Given the description of an element on the screen output the (x, y) to click on. 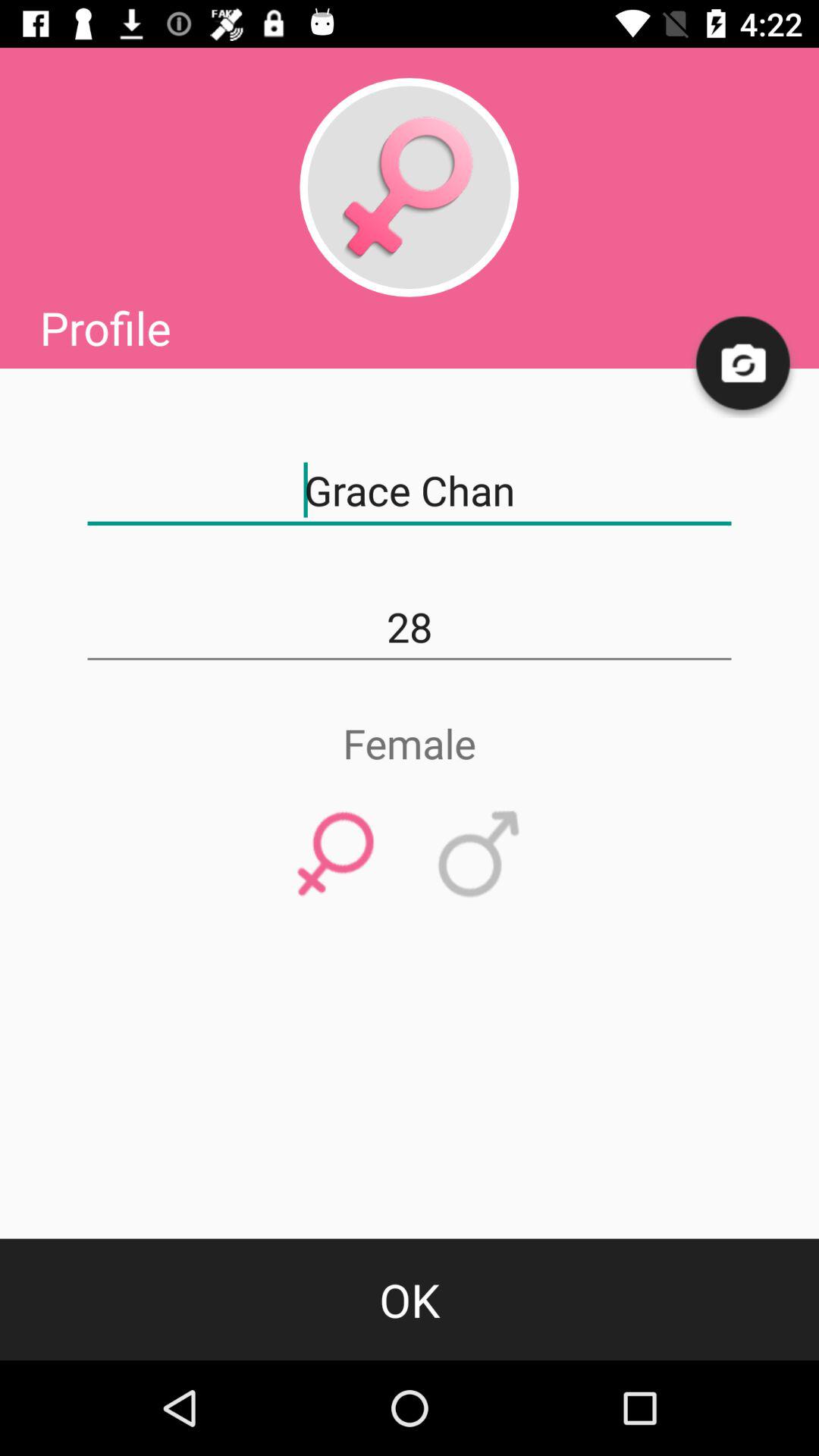
click 28 icon (409, 626)
